Given the description of an element on the screen output the (x, y) to click on. 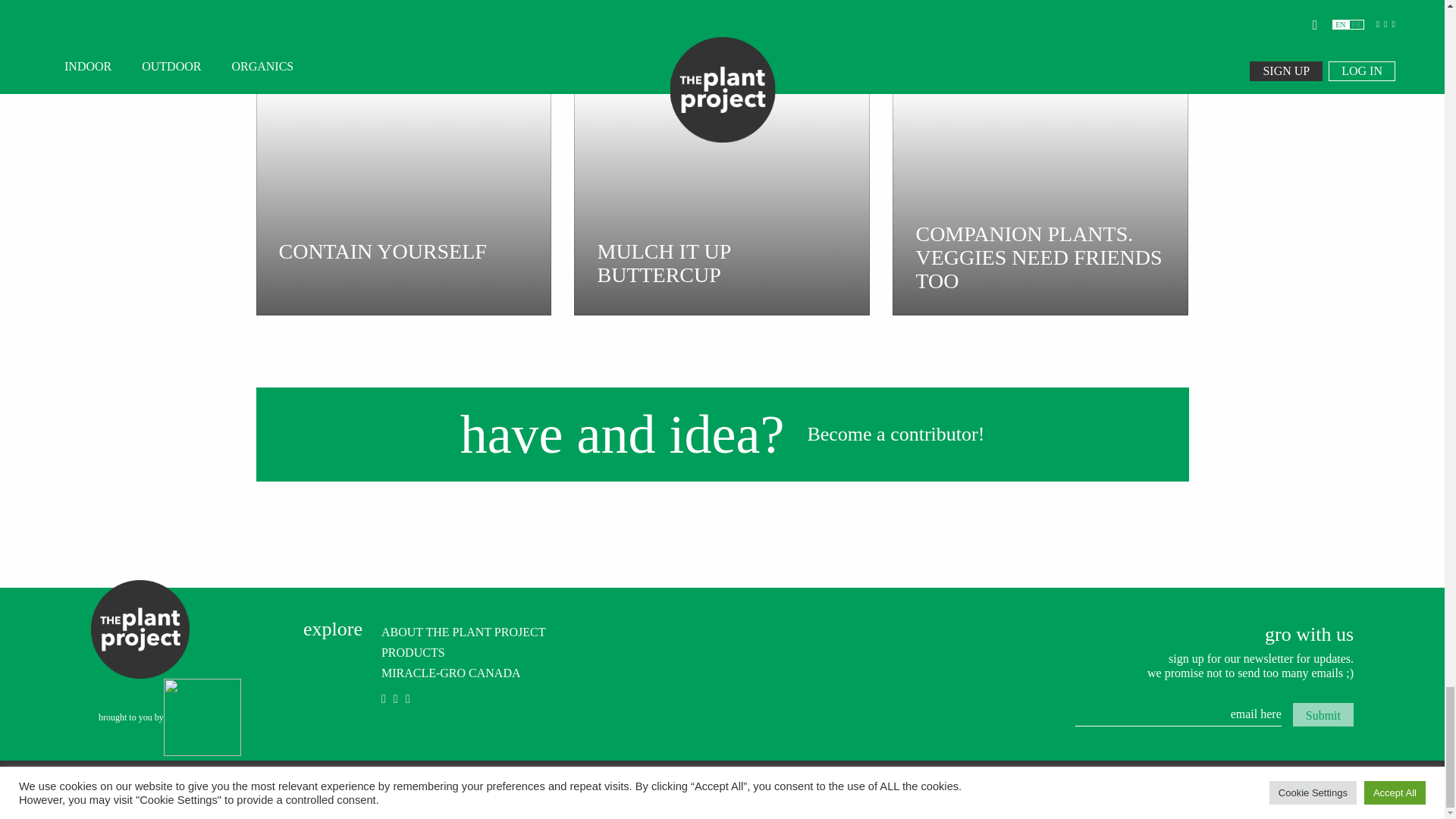
Submit (1323, 714)
